Given the description of an element on the screen output the (x, y) to click on. 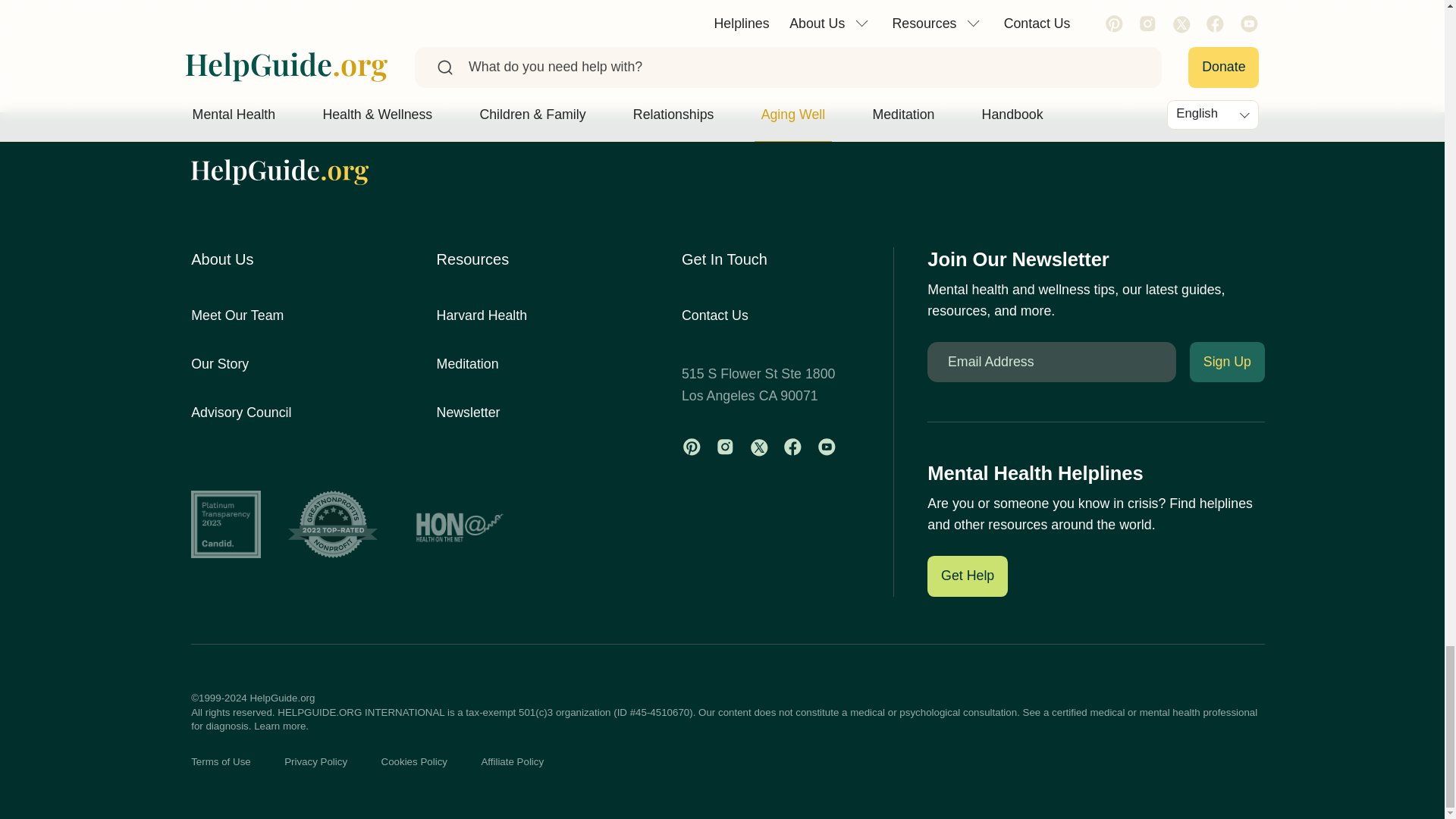
Sign Up (1227, 362)
